Given the description of an element on the screen output the (x, y) to click on. 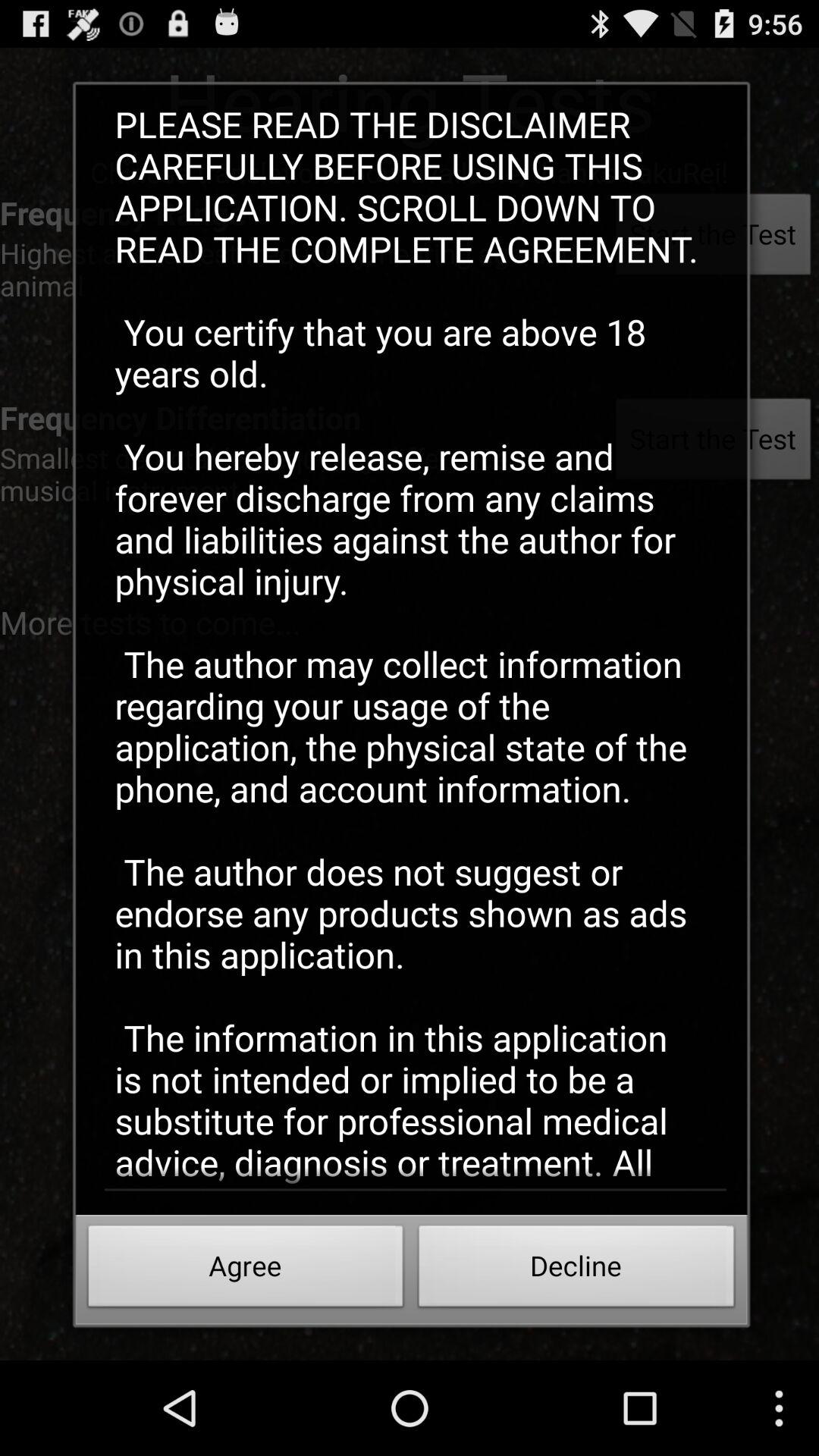
press button at the bottom right corner (576, 1270)
